Given the description of an element on the screen output the (x, y) to click on. 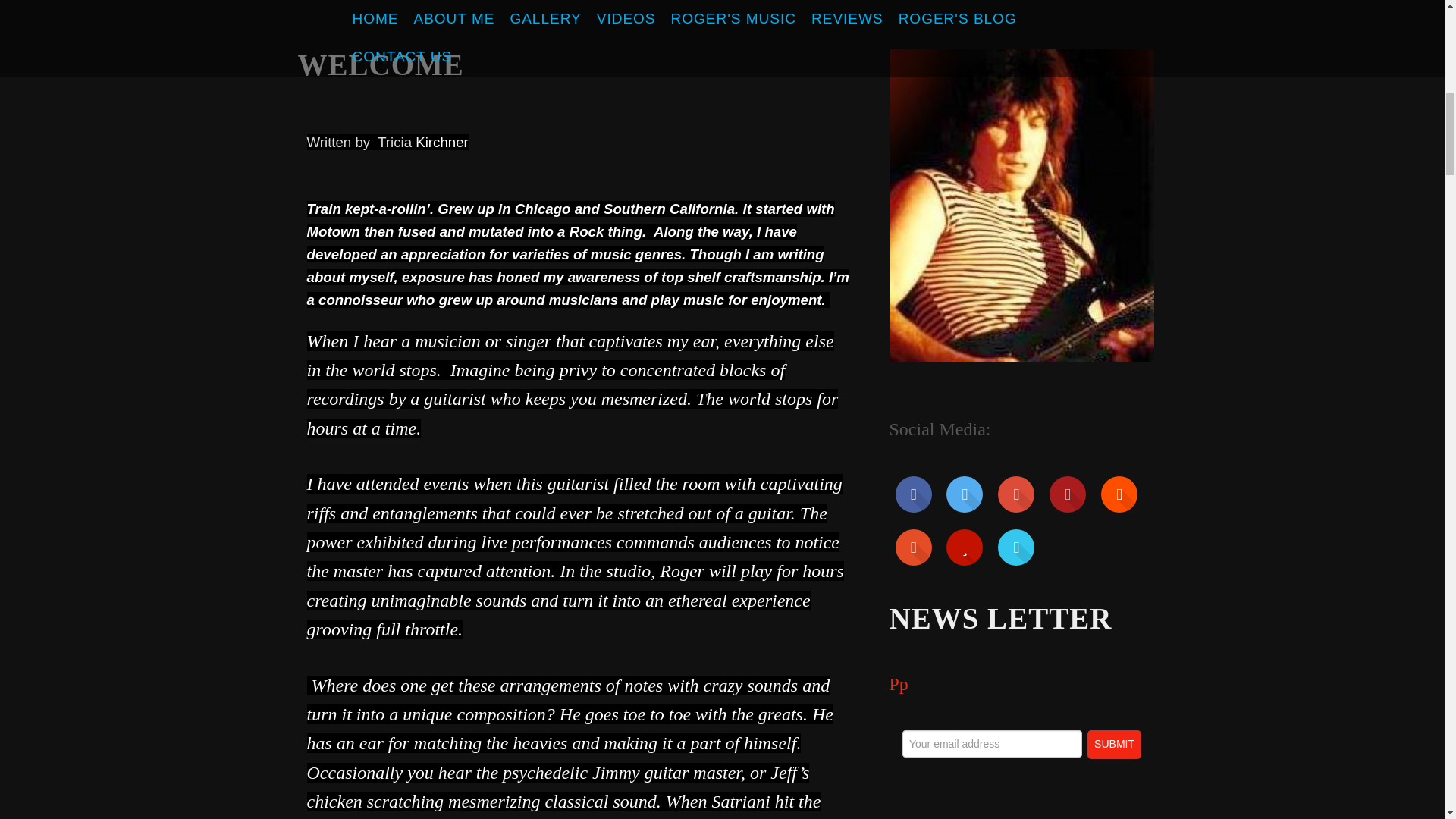
Reverbnation (964, 547)
Soundcloud (1118, 493)
Youtube (1067, 493)
Google Plus (1015, 493)
Submit (1114, 744)
Submit (1114, 744)
Twitter (964, 493)
Itunes (913, 547)
Pp (897, 683)
Facebook (913, 493)
